Given the description of an element on the screen output the (x, y) to click on. 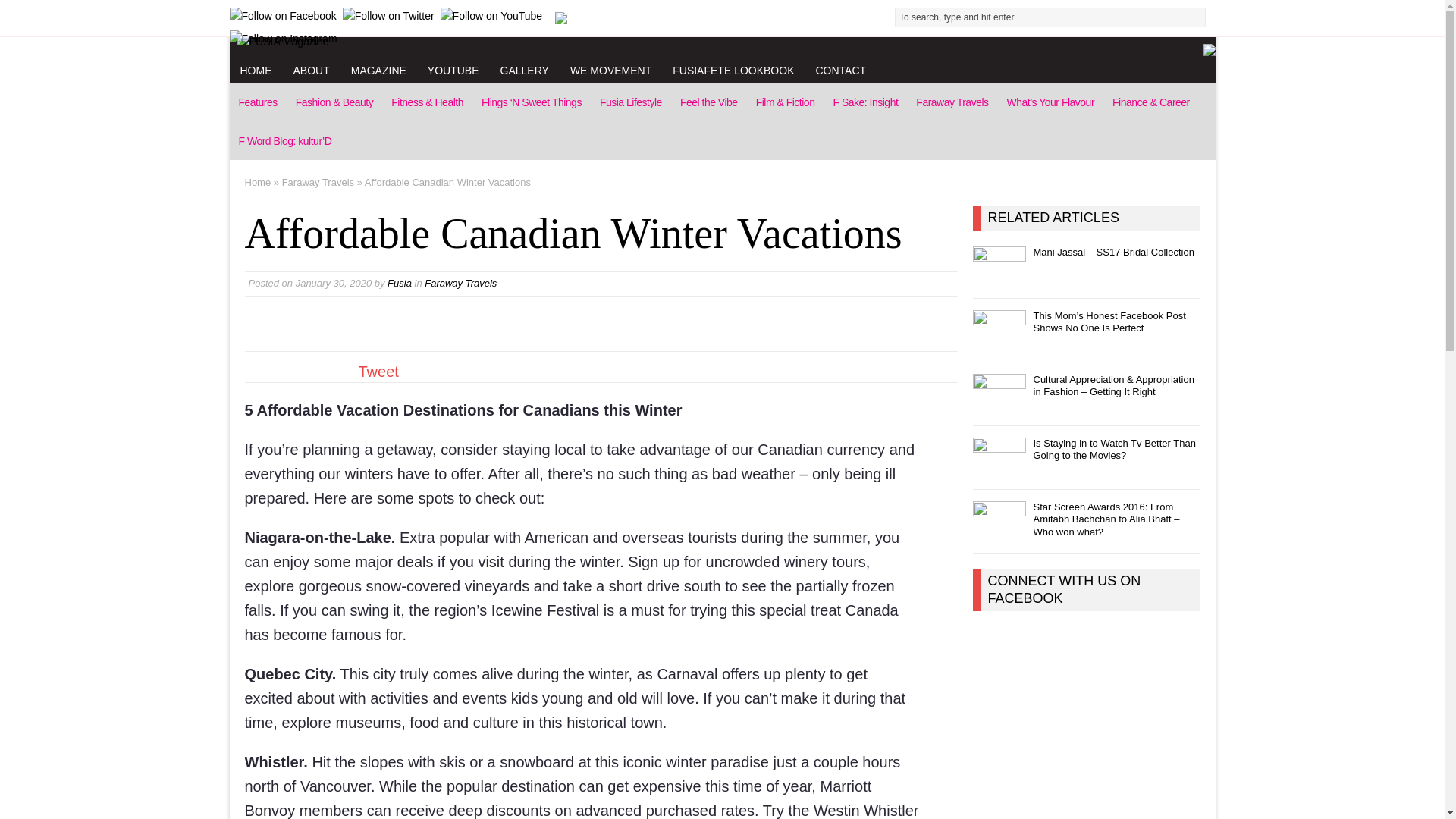
GALLERY (524, 70)
To search, type and hit enter (1053, 17)
Posts by Fusia (399, 283)
Tweet (377, 371)
Faraway Travels (952, 102)
Faraway Travels (317, 182)
FUSIA Magazine (721, 41)
Faraway Travels (460, 283)
MAGAZINE (378, 70)
Fusia (399, 283)
